Given the description of an element on the screen output the (x, y) to click on. 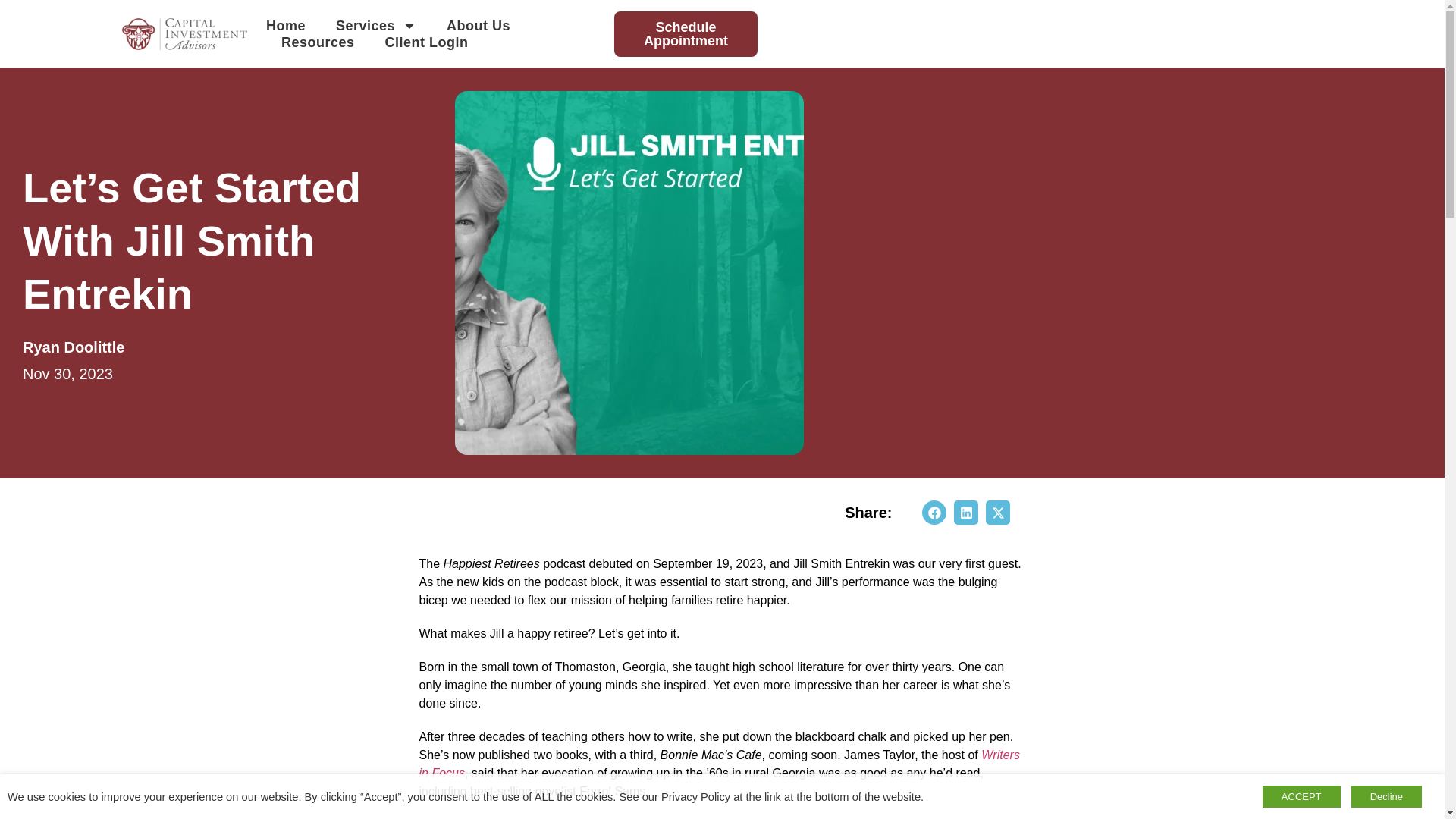
Resources (318, 42)
Schedule Appointment (685, 33)
Jill-Smith-Entrekin (628, 272)
Home (285, 25)
Client Login (426, 42)
About Us (478, 25)
Services (376, 25)
